Given the description of an element on the screen output the (x, y) to click on. 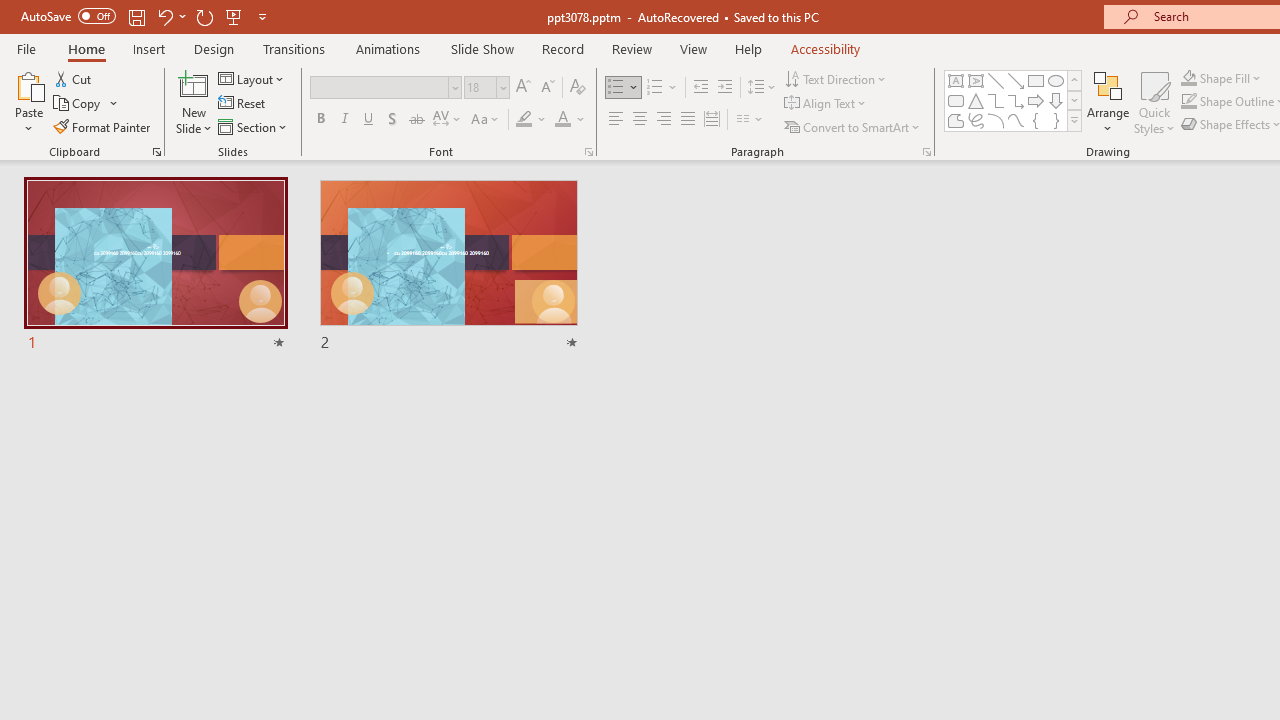
Shape Fill Dark Green, Accent 2 (1188, 78)
